Given the description of an element on the screen output the (x, y) to click on. 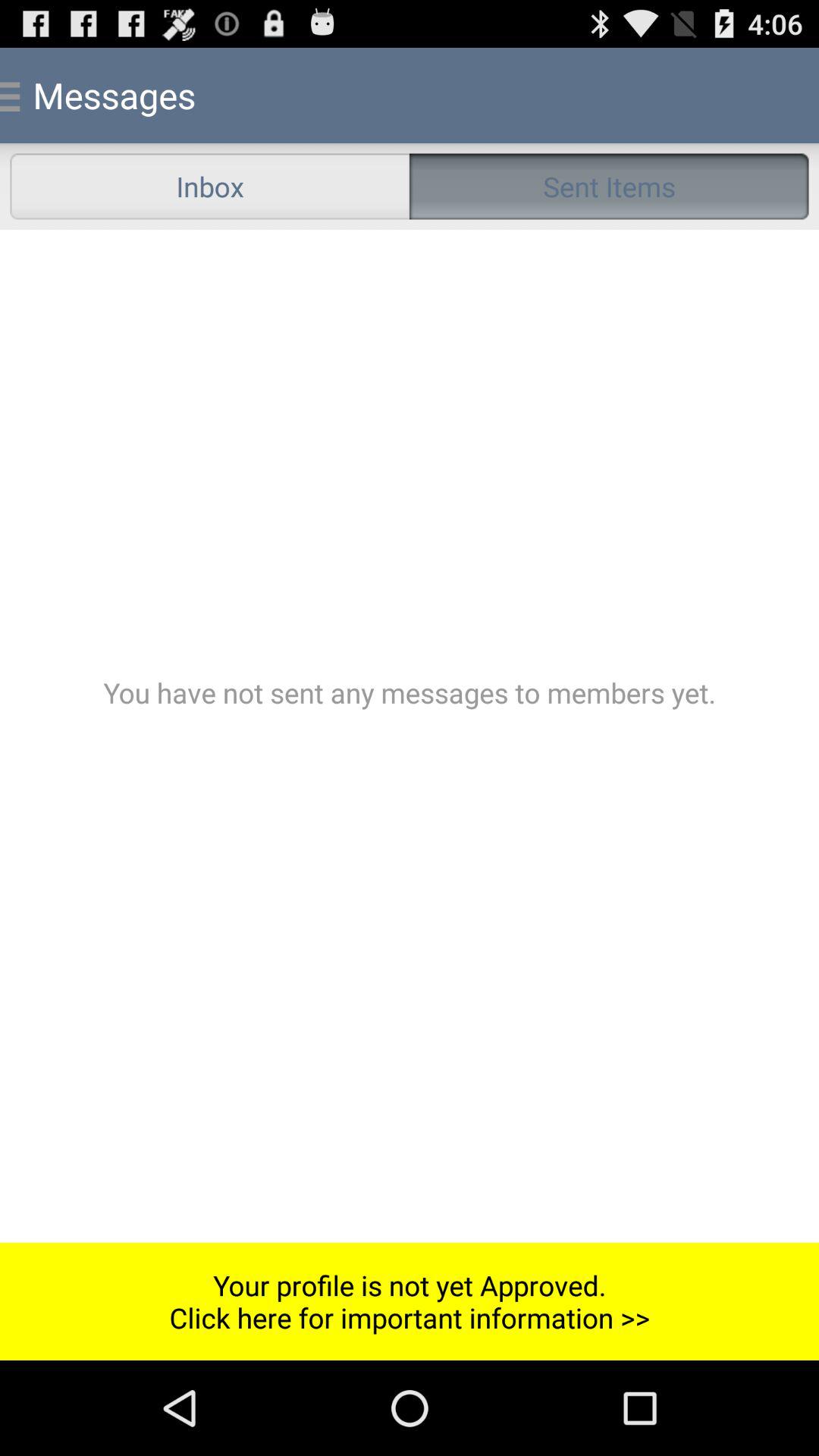
turn off the item to the right of inbox (608, 186)
